Given the description of an element on the screen output the (x, y) to click on. 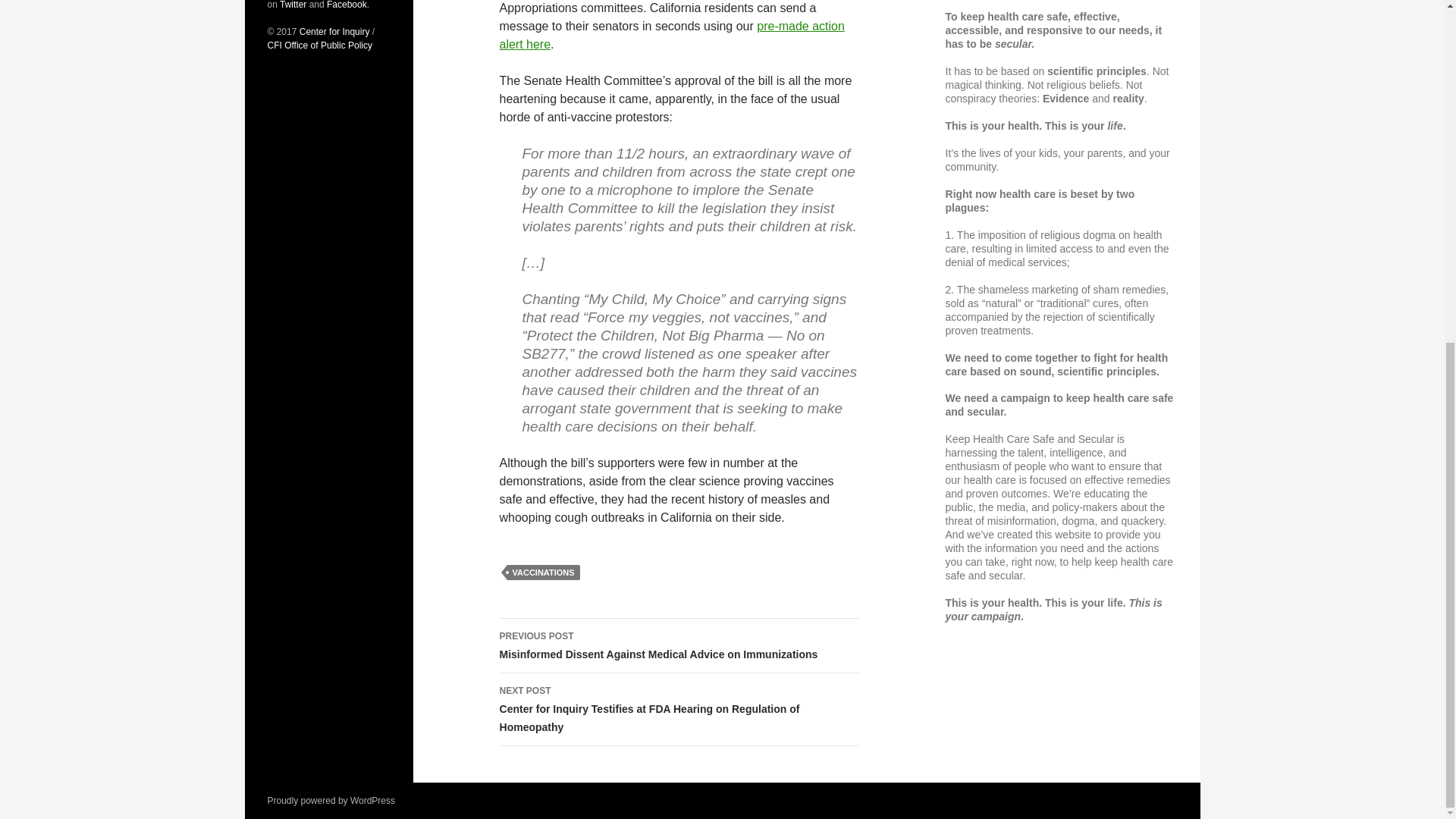
pre-made action alert here (671, 34)
VACCINATIONS (542, 572)
